Given the description of an element on the screen output the (x, y) to click on. 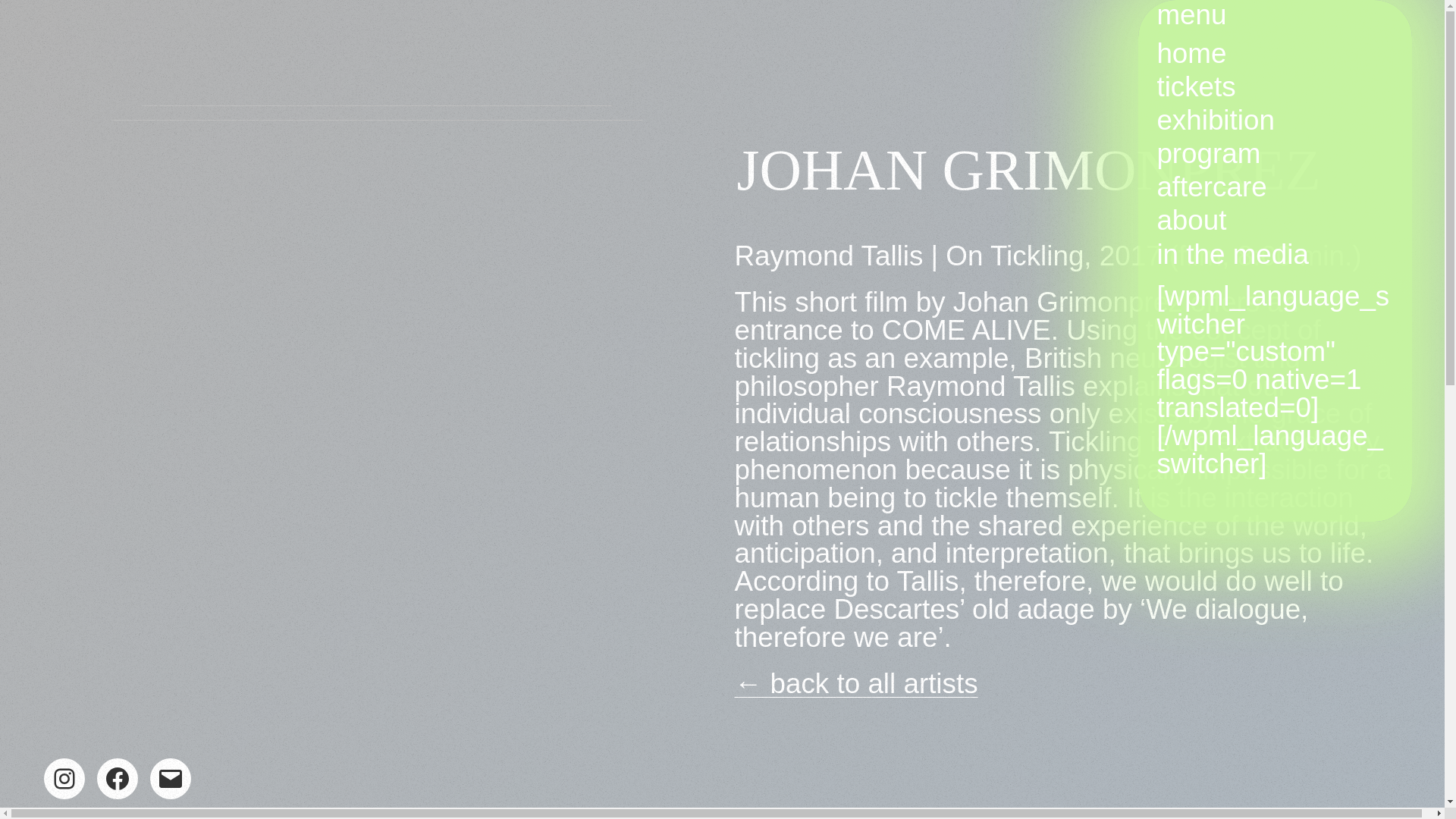
program (1208, 153)
Instagram (63, 778)
program (1208, 153)
in the media (1231, 254)
exhibition (1215, 120)
tickets (1195, 87)
in the media (1231, 254)
aftercare (1211, 186)
home (1190, 53)
home (1190, 53)
aftercare (1211, 186)
about (1190, 220)
about (1190, 220)
menu (1274, 15)
exhibition (1215, 120)
